Given the description of an element on the screen output the (x, y) to click on. 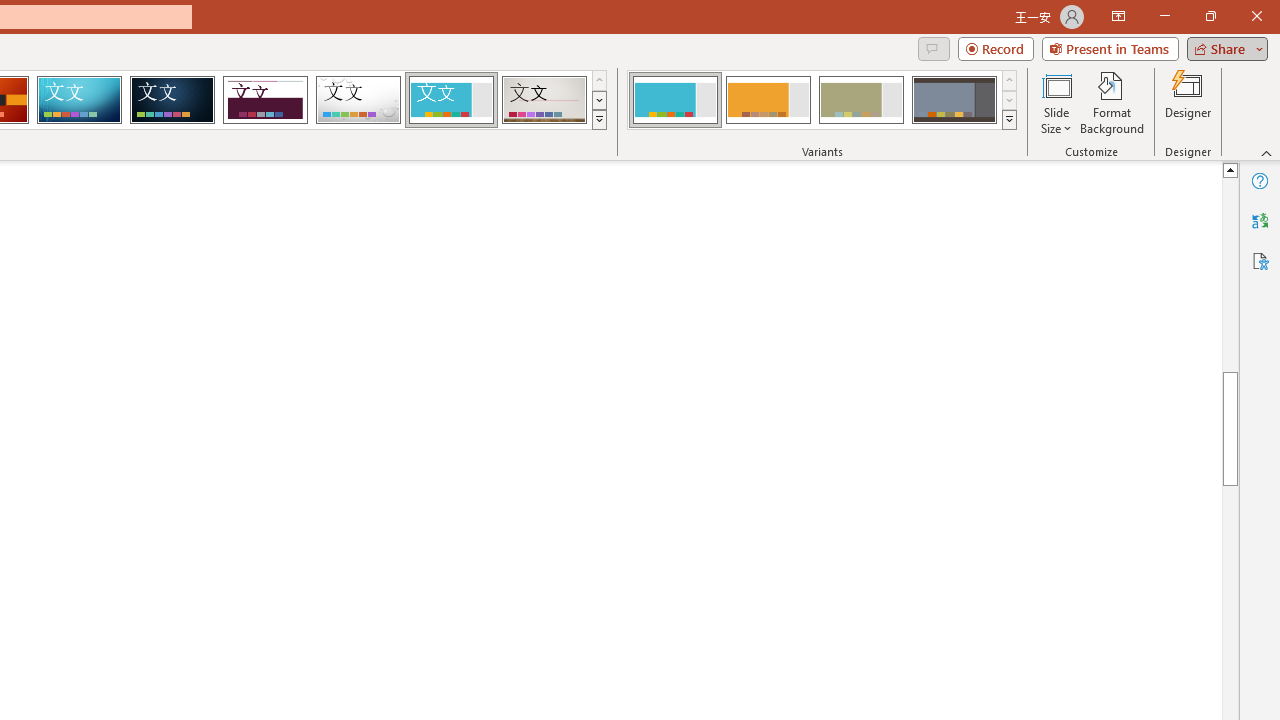
TextBox 7 (1213, 288)
Themes (598, 120)
Frame Variant 2 (768, 100)
Format Background (1111, 102)
Frame Variant 1 (674, 100)
Frame Variant 4 (953, 100)
Dividend (265, 100)
AutomationID: ThemeVariantsGallery (822, 99)
